Given the description of an element on the screen output the (x, y) to click on. 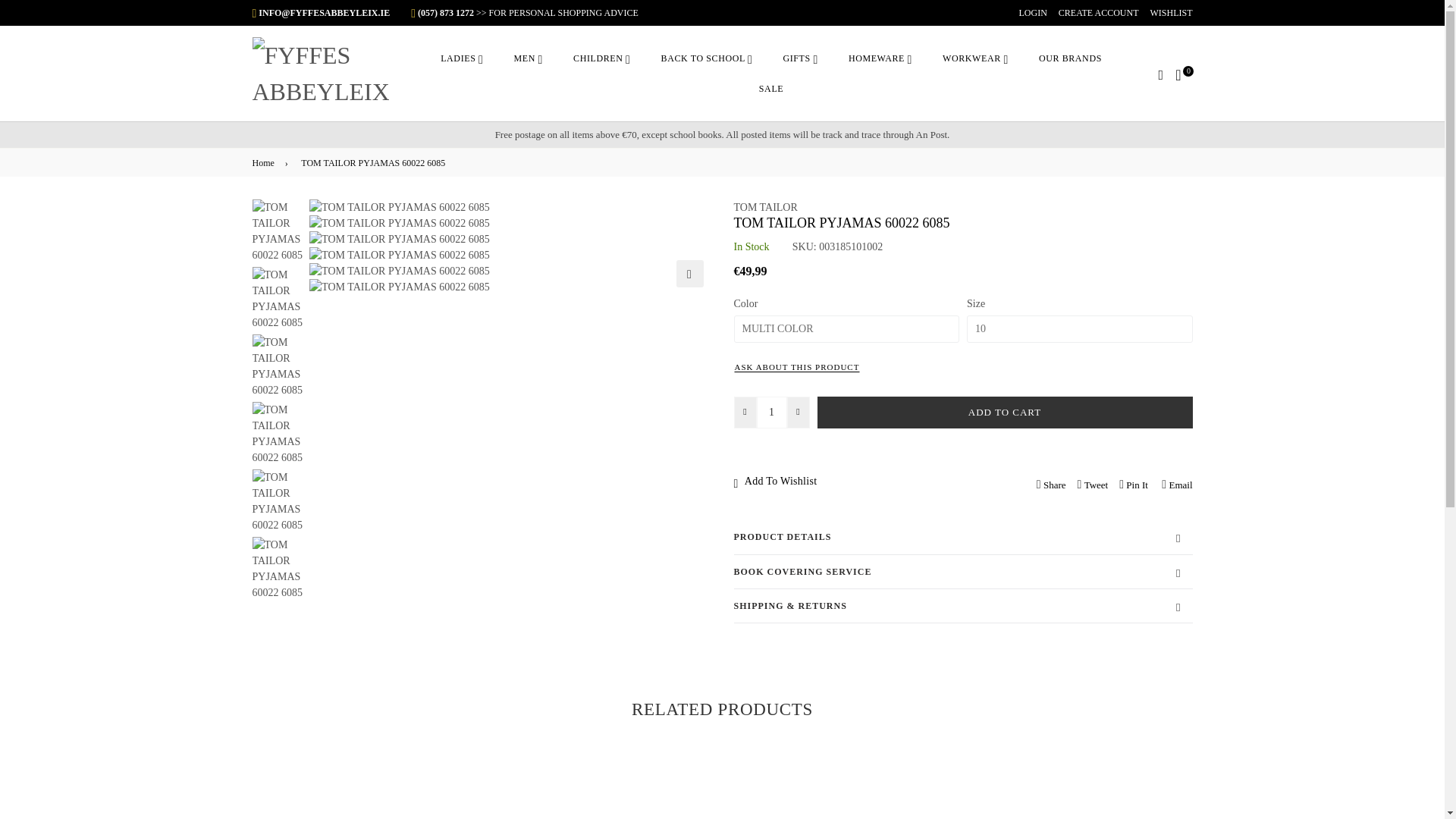
CREATE ACCOUNT (1098, 12)
Share on Facebook (1051, 484)
Tweet on Twitter (1093, 484)
Add to Wishlist (809, 481)
TOM TAILOR (765, 206)
Zoom (690, 273)
Pin on Pinterest (1133, 484)
LOGIN (1031, 12)
Cart (1177, 73)
Share by Email (1176, 484)
WISHLIST (1171, 12)
Back to the home page (265, 162)
1 (772, 412)
LADIES (461, 58)
